Given the description of an element on the screen output the (x, y) to click on. 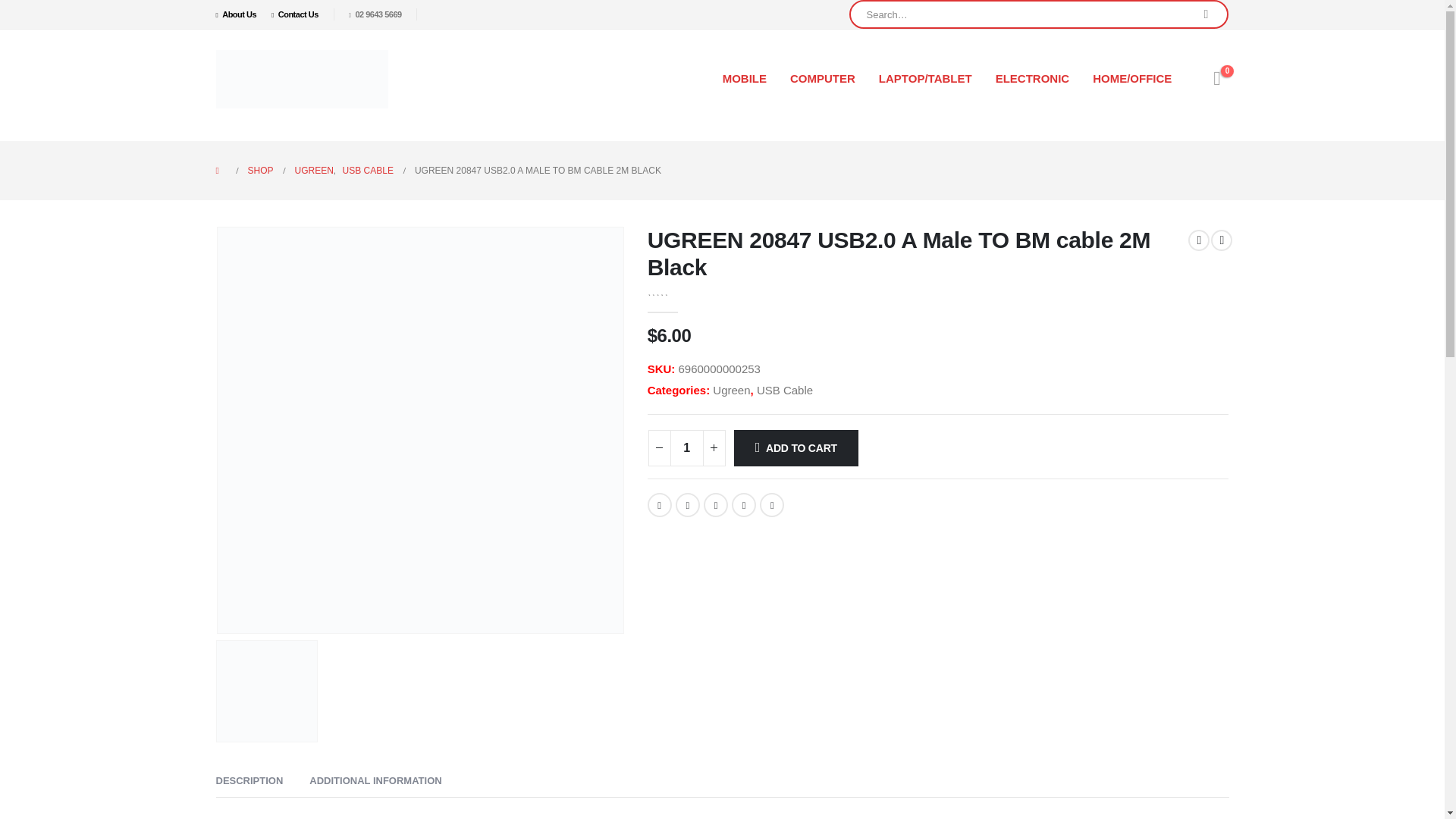
COMPUTER (822, 78)
Twitter (687, 504)
LinkedIn (715, 504)
Twitter (687, 504)
20847.jpg (266, 691)
UGREEN (314, 170)
Email (772, 504)
LinkedIn (715, 504)
USB CABLE (367, 170)
About Us (239, 13)
